Given the description of an element on the screen output the (x, y) to click on. 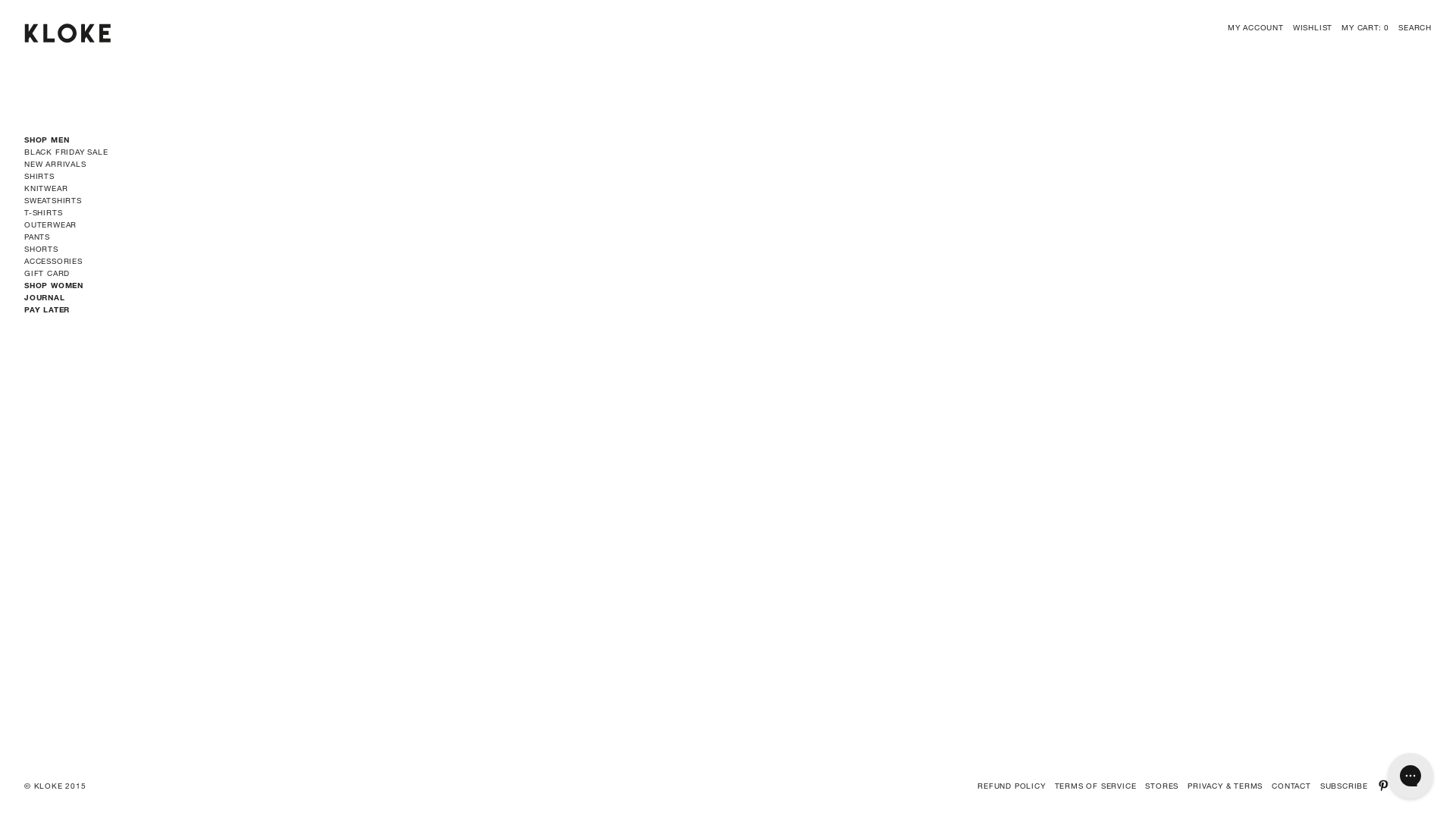
PANTS Element type: text (37, 236)
PRIVACY & TERMS Element type: text (1224, 785)
FACEBOOK Element type: text (1425, 785)
ACCESSORIES Element type: text (53, 260)
OUTERWEAR Element type: text (50, 224)
KNITWEAR Element type: text (45, 187)
Gorgias live chat messenger Element type: hover (1410, 775)
JOURNAL Element type: text (44, 296)
SHORTS Element type: text (41, 248)
SWEATSHIRTS Element type: text (52, 199)
SEARCH Element type: text (1414, 26)
CONTACT Element type: text (1291, 785)
GIFT CARD Element type: text (46, 272)
REFUND POLICY Element type: text (1010, 785)
PINTEREST Element type: text (1383, 785)
BLACK FRIDAY SALE Element type: text (66, 151)
SHOP MEN Element type: text (46, 139)
NEW ARRIVALS Element type: text (55, 163)
SUBSCRIBE Element type: text (1344, 785)
MY CART: 0 Element type: text (1365, 26)
SHIRTS Element type: text (39, 175)
MY ACCOUNT Element type: text (1255, 26)
TERMS OF SERVICE Element type: text (1095, 785)
STORES Element type: text (1161, 785)
T-SHIRTS Element type: text (43, 211)
SHOP WOMEN Element type: text (53, 284)
WISHLIST Element type: text (1312, 26)
INSTAGRAM Element type: text (1404, 785)
PAY LATER Element type: text (46, 308)
